Given the description of an element on the screen output the (x, y) to click on. 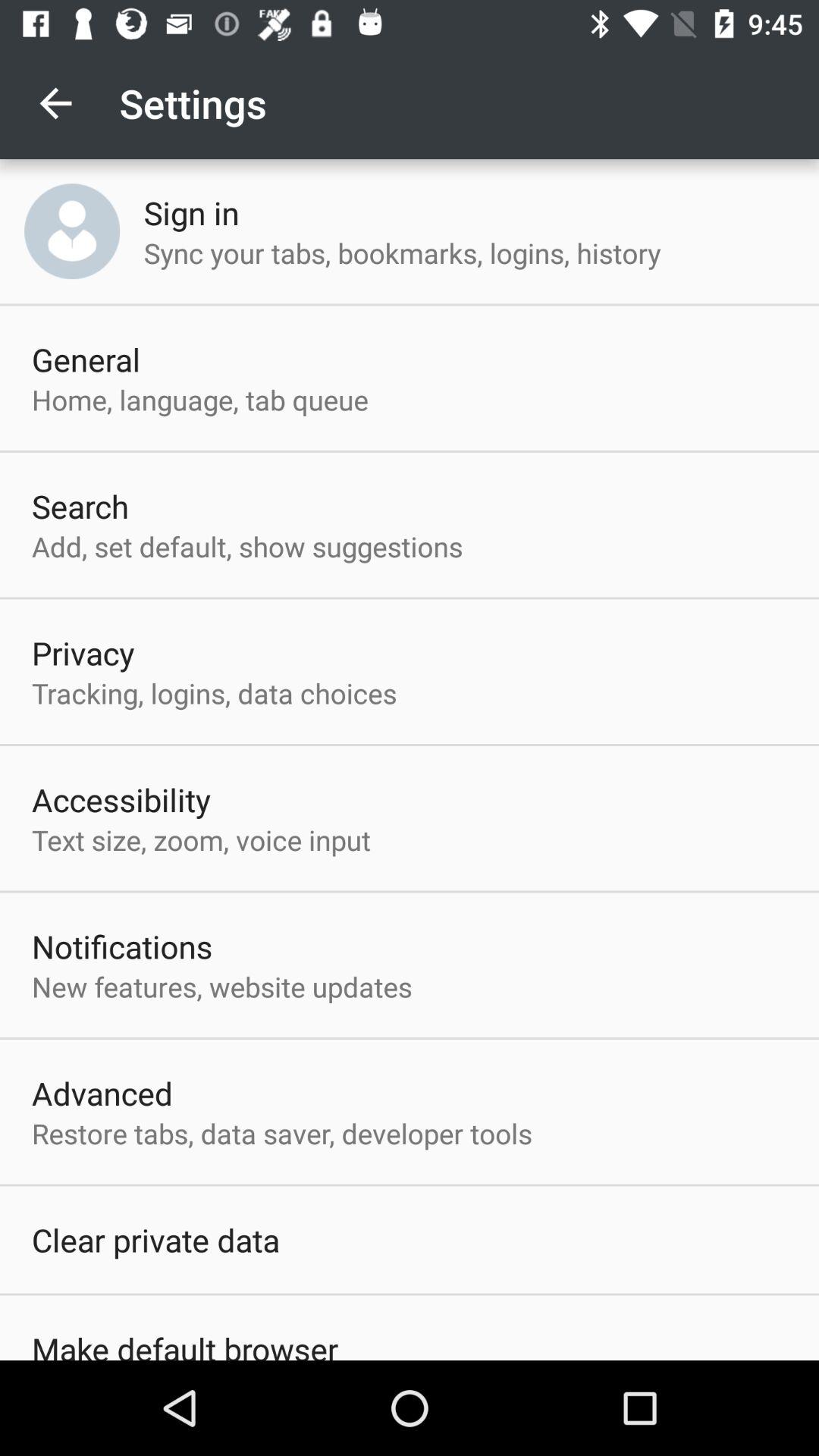
flip to make default browser icon (184, 1343)
